Given the description of an element on the screen output the (x, y) to click on. 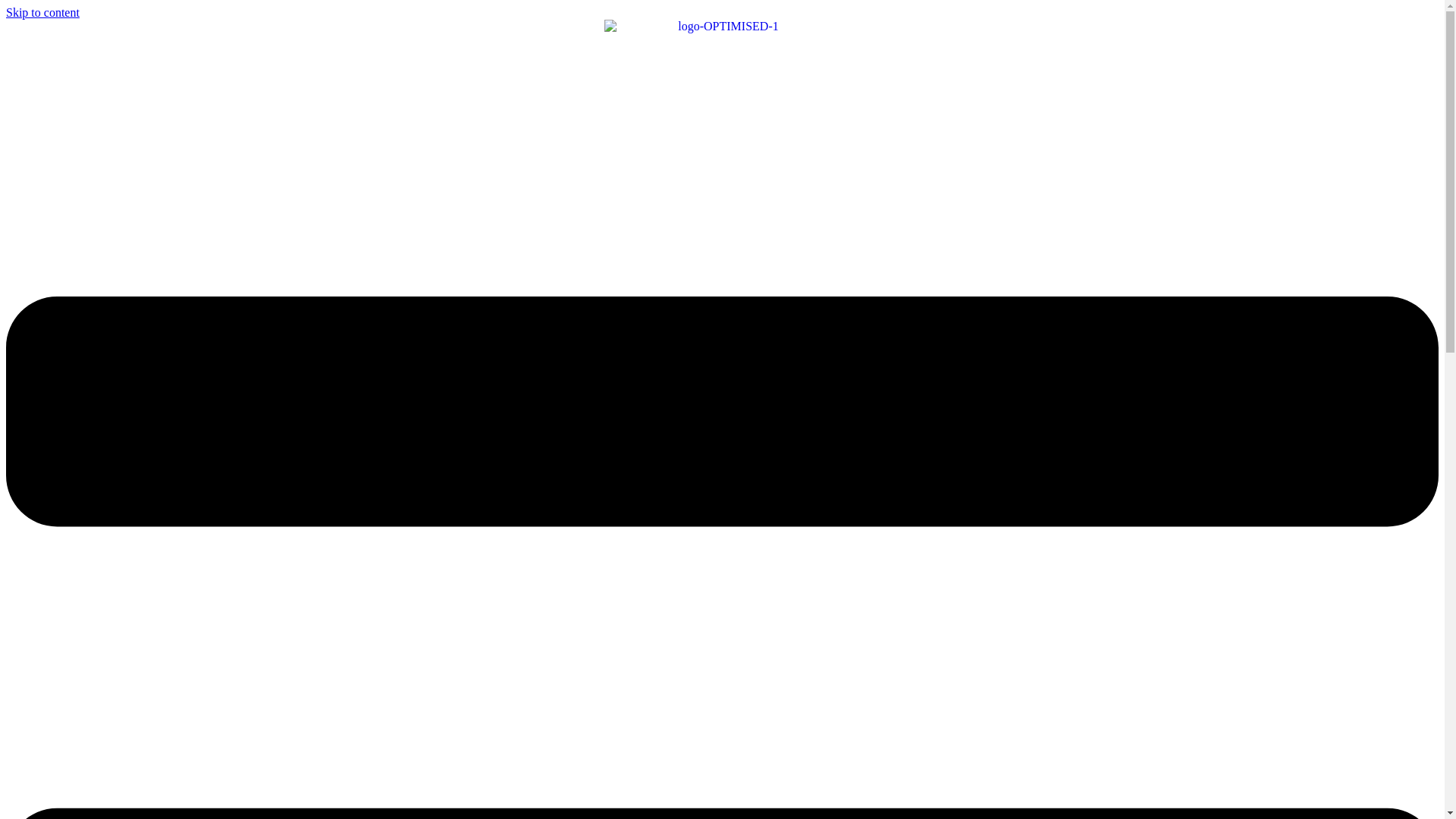
Skip to content (42, 11)
